Given the description of an element on the screen output the (x, y) to click on. 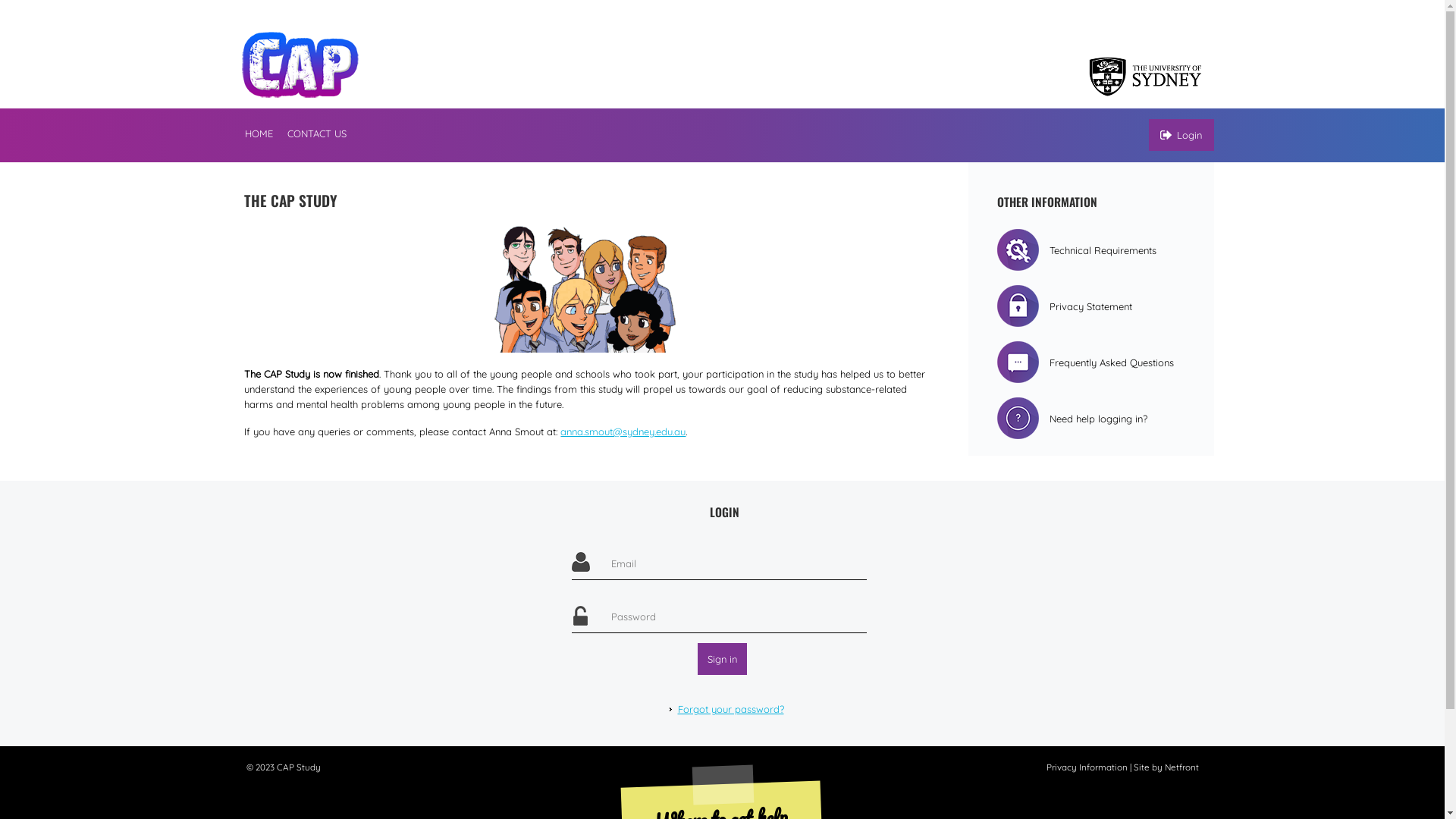
HOME Element type: text (261, 134)
Login Element type: text (1181, 134)
Sign in Element type: text (721, 658)
Frequently Asked Questions Element type: text (1085, 362)
Technical Requirements Element type: text (1076, 250)
Forgot your password? Element type: text (724, 710)
Privacy Statement Element type: text (1064, 306)
anna.smout@sydney.edu.au Element type: text (622, 431)
CONTACT US Element type: text (316, 134)
Need help logging in? Element type: text (1072, 418)
Privacy Information Element type: text (1086, 766)
Site by Netfront Element type: text (1165, 766)
